Given the description of an element on the screen output the (x, y) to click on. 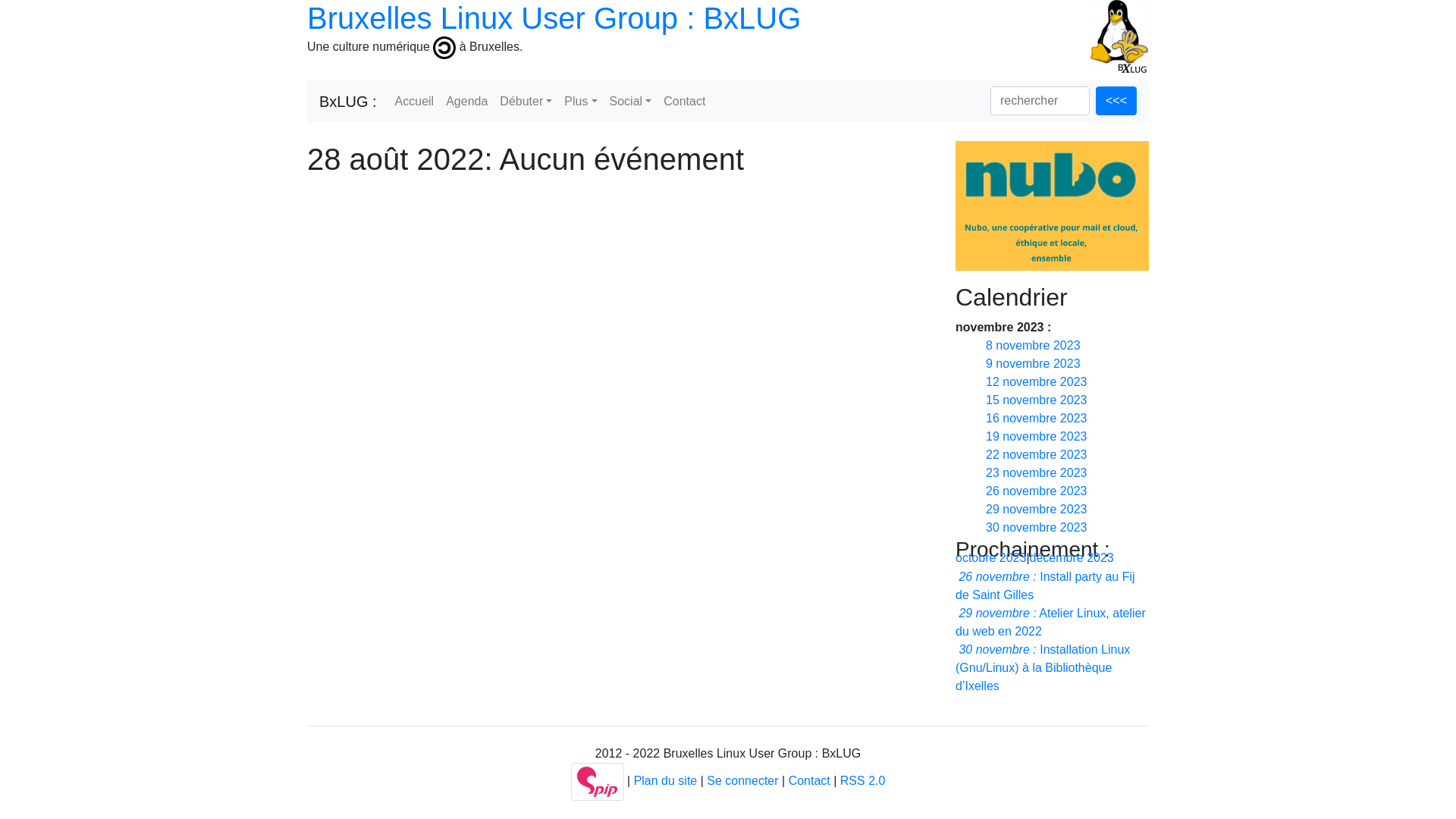
16 novembre 2023 Element type: text (1035, 417)
22 novembre 2023 Element type: text (1035, 454)
Plan du site Element type: text (665, 780)
23 novembre 2023 Element type: text (1035, 472)
12 novembre 2023 Element type: text (1035, 381)
 29 novembre : Atelier Linux, atelier du web en 2022 Element type: text (1050, 621)
RSS 2.0 Element type: text (862, 780)
29 novembre 2023 Element type: text (1035, 508)
Social Element type: text (630, 101)
Plus Element type: text (580, 101)
BxLUG : Element type: text (347, 101)
Contact Element type: text (809, 780)
15 novembre 2023 Element type: text (1035, 399)
 26 novembre : Install party au Fij de Saint Gilles Element type: text (1045, 585)
30 novembre 2023 Element type: text (1035, 526)
octobre 2023 Element type: text (990, 558)
Agenda Element type: text (466, 101)
9 novembre 2023 Element type: text (1032, 363)
Bruxelles Linux User Group : BxLUG Element type: text (553, 17)
Contact Element type: text (684, 101)
<<< Element type: text (1115, 100)
Se connecter Element type: text (742, 780)
19 novembre 2023 Element type: text (1035, 435)
Accueil Element type: text (414, 101)
8 novembre 2023 Element type: text (1032, 344)
Gauche d'auteur  Element type: hover (444, 46)
26 novembre 2023 Element type: text (1035, 490)
